Given the description of an element on the screen output the (x, y) to click on. 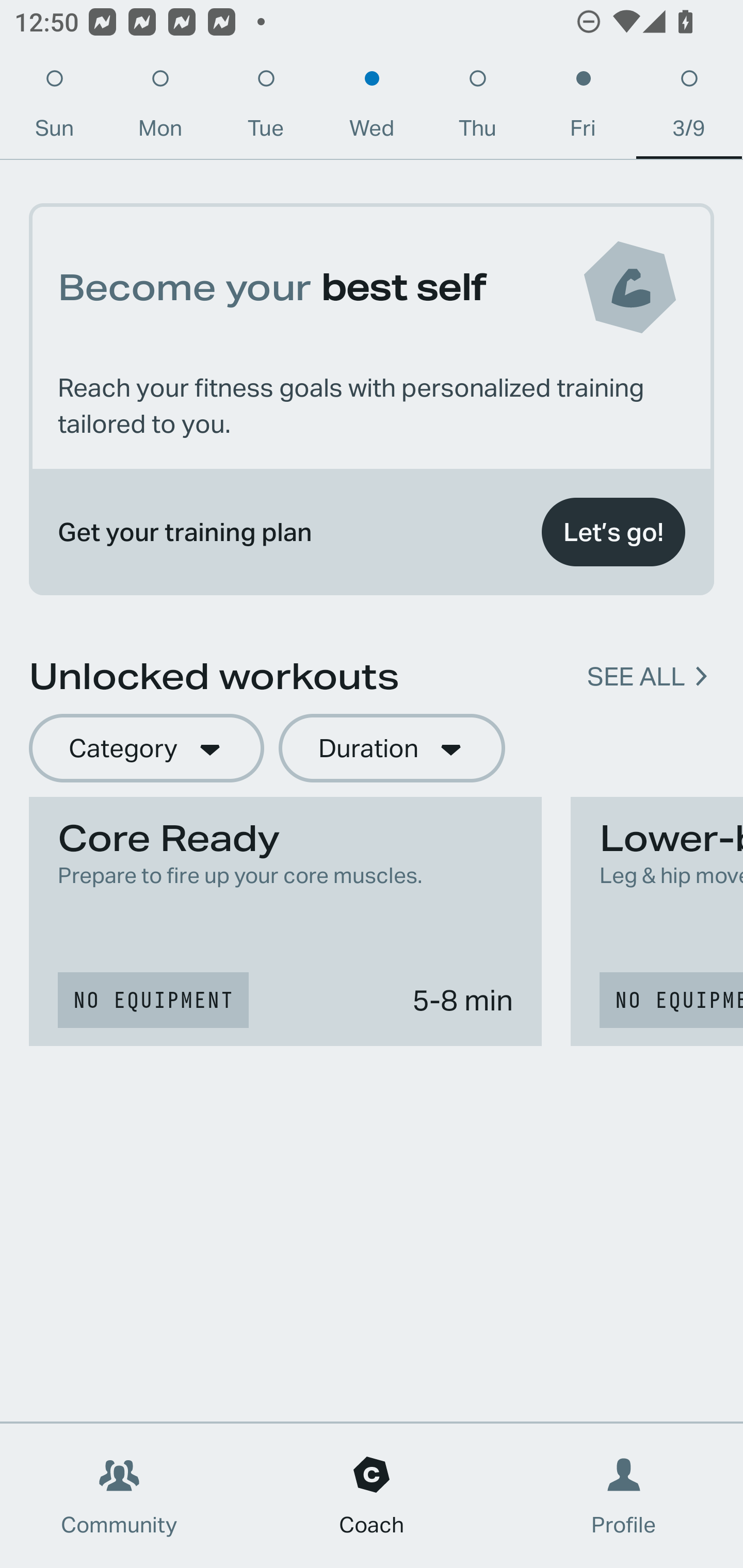
Sun (53, 108)
Mon (159, 108)
Tue (265, 108)
Wed (371, 108)
Thu (477, 108)
Fri (583, 108)
3/9 (689, 108)
Let’s go! (613, 532)
SEE ALL (635, 676)
Category (146, 748)
Duration (391, 748)
Community (119, 1495)
Profile (624, 1495)
